Given the description of an element on the screen output the (x, y) to click on. 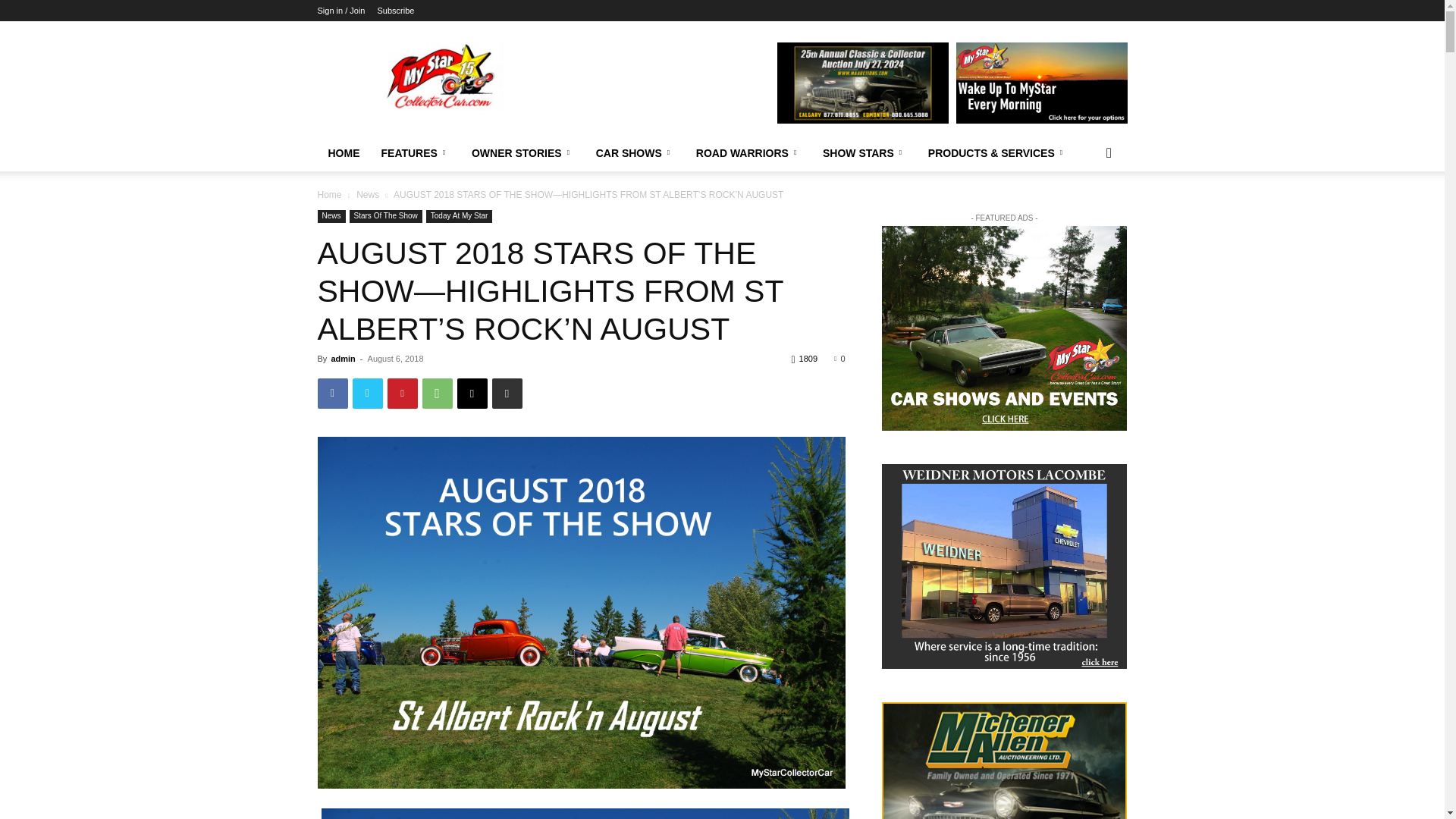
OWNER STORIES (523, 153)
FEATURES (414, 153)
Subscribe (395, 10)
HOME (343, 153)
